Given the description of an element on the screen output the (x, y) to click on. 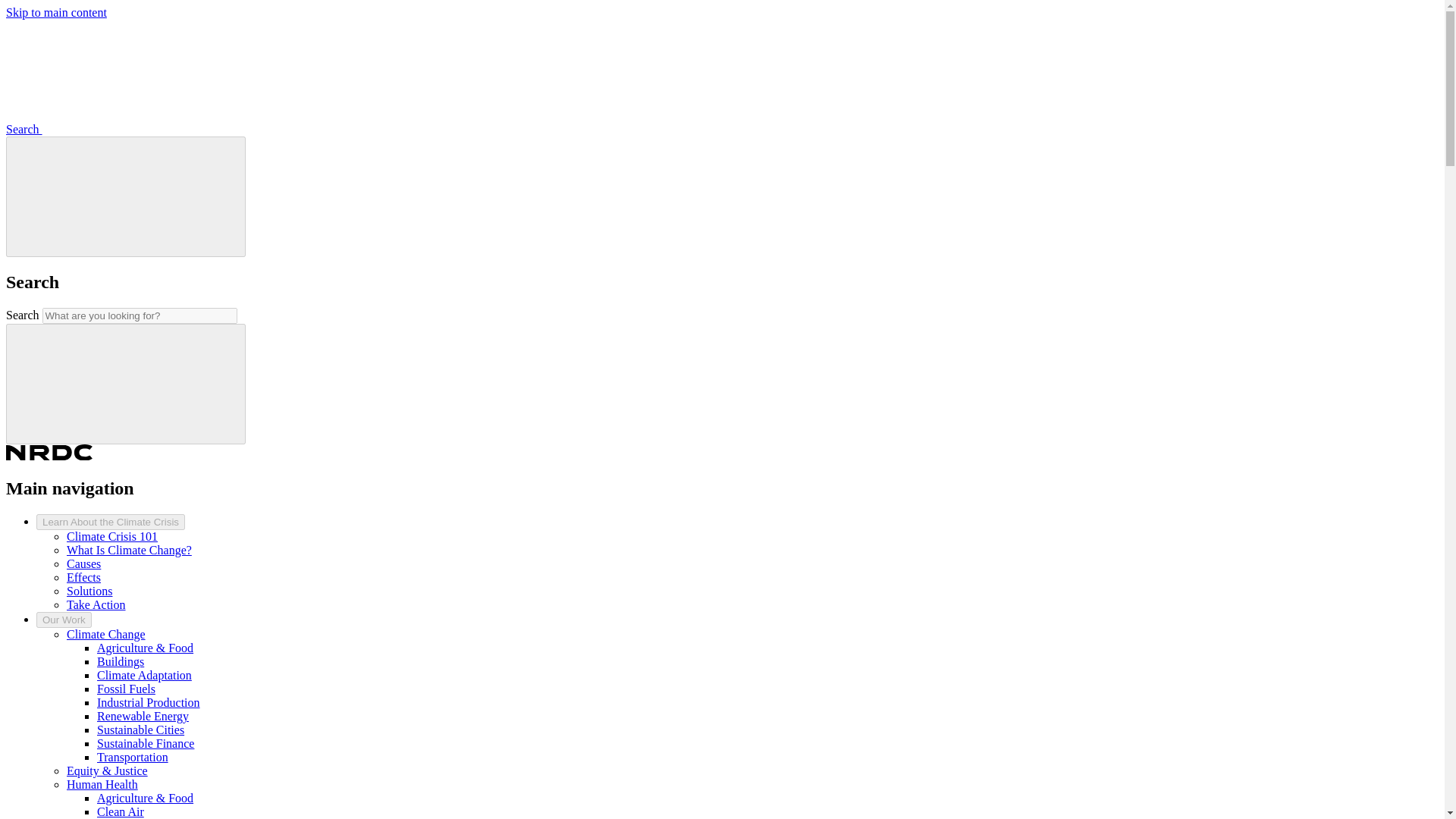
Search (125, 382)
Learn About the Climate Crisis (110, 521)
Industrial Production (148, 702)
Buildings (120, 661)
Our Work (63, 619)
Skip to main content (55, 11)
Causes (83, 563)
Sustainable Cities (140, 729)
Close search (125, 196)
Solutions (89, 590)
